Given the description of an element on the screen output the (x, y) to click on. 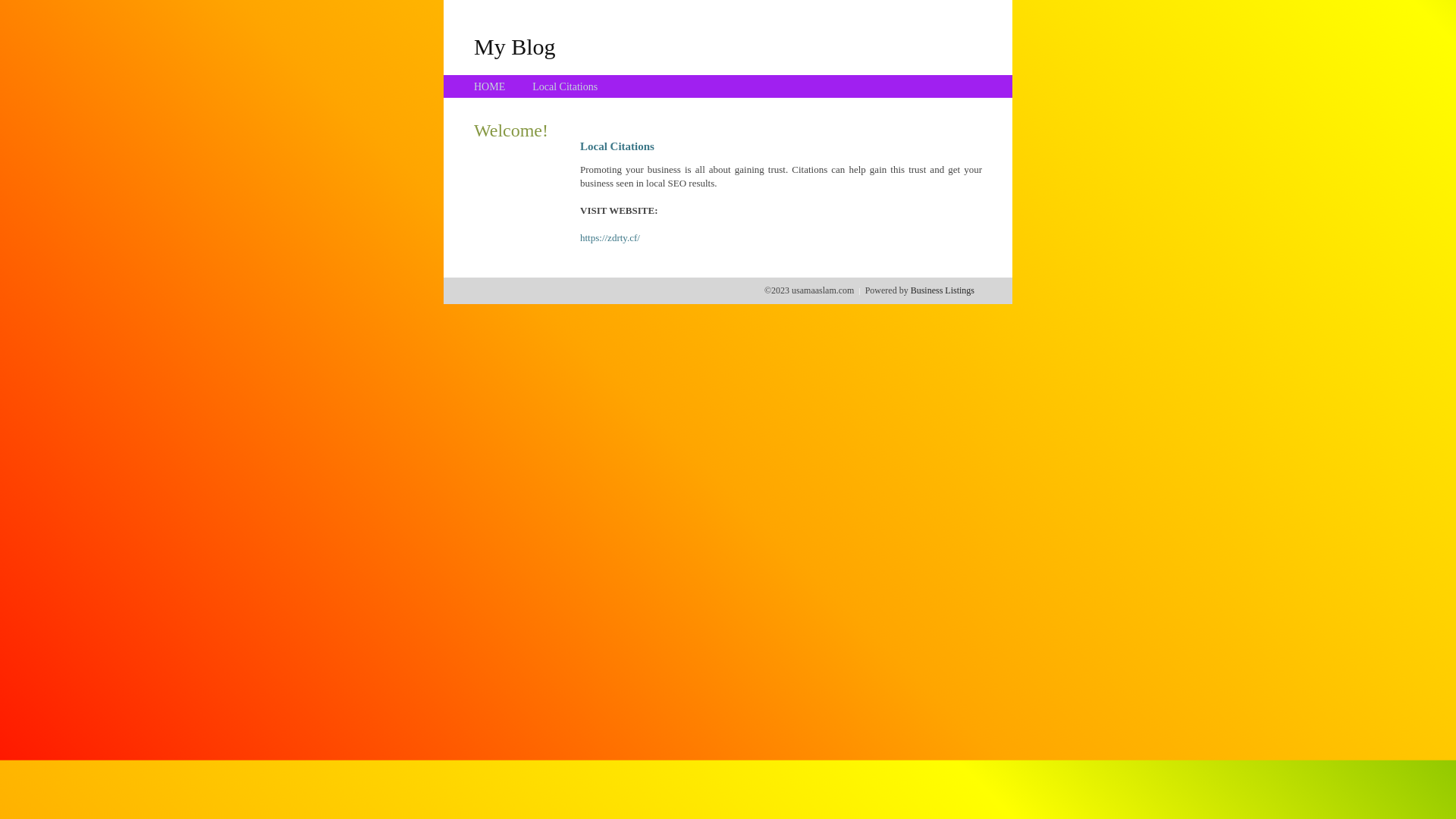
https://zdrty.cf/ Element type: text (610, 237)
Business Listings Element type: text (942, 290)
HOME Element type: text (489, 86)
Local Citations Element type: text (564, 86)
My Blog Element type: text (514, 46)
